Given the description of an element on the screen output the (x, y) to click on. 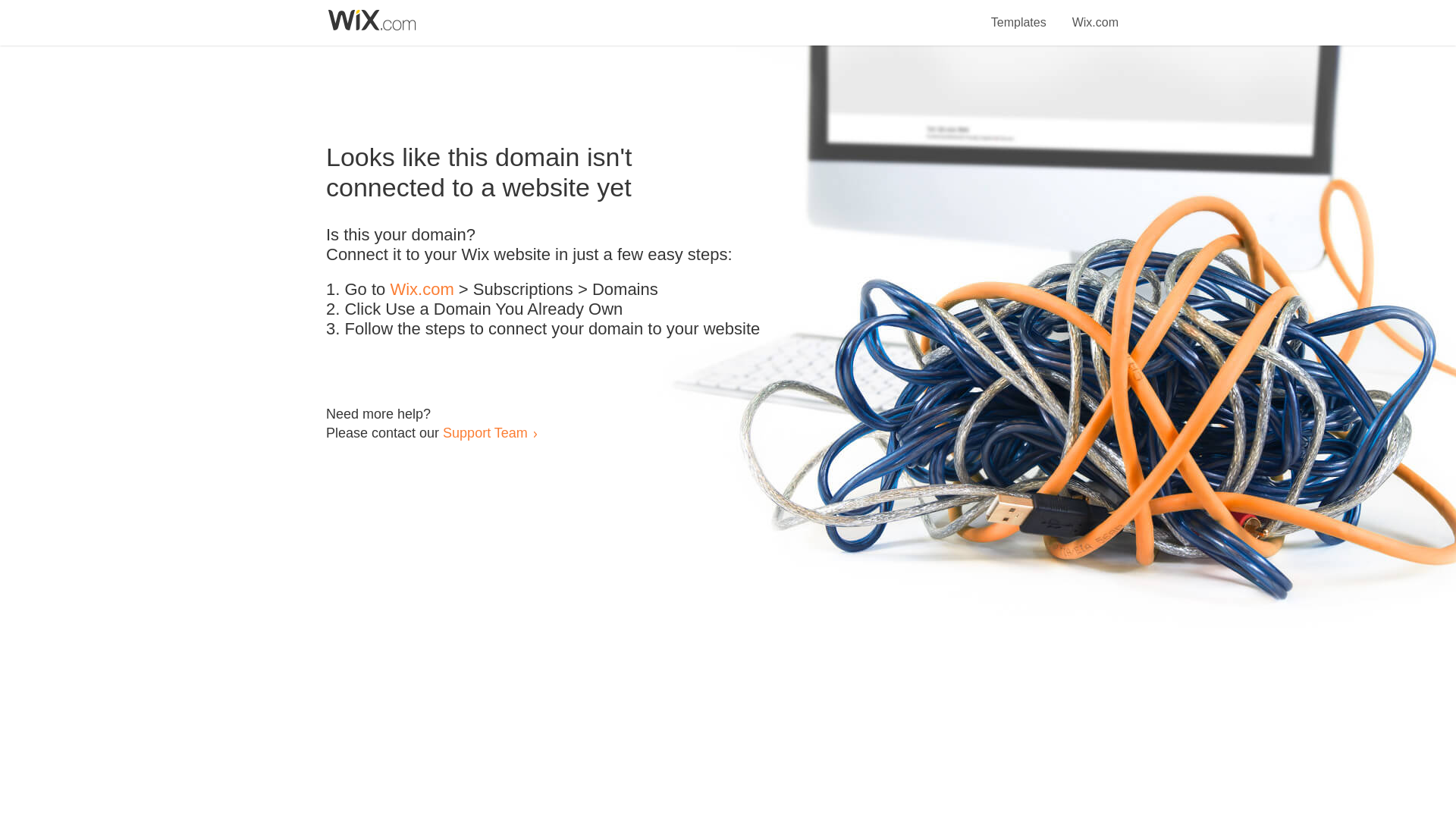
Templates (1018, 14)
Wix.com (421, 289)
Wix.com (1095, 14)
Support Team (484, 432)
